Given the description of an element on the screen output the (x, y) to click on. 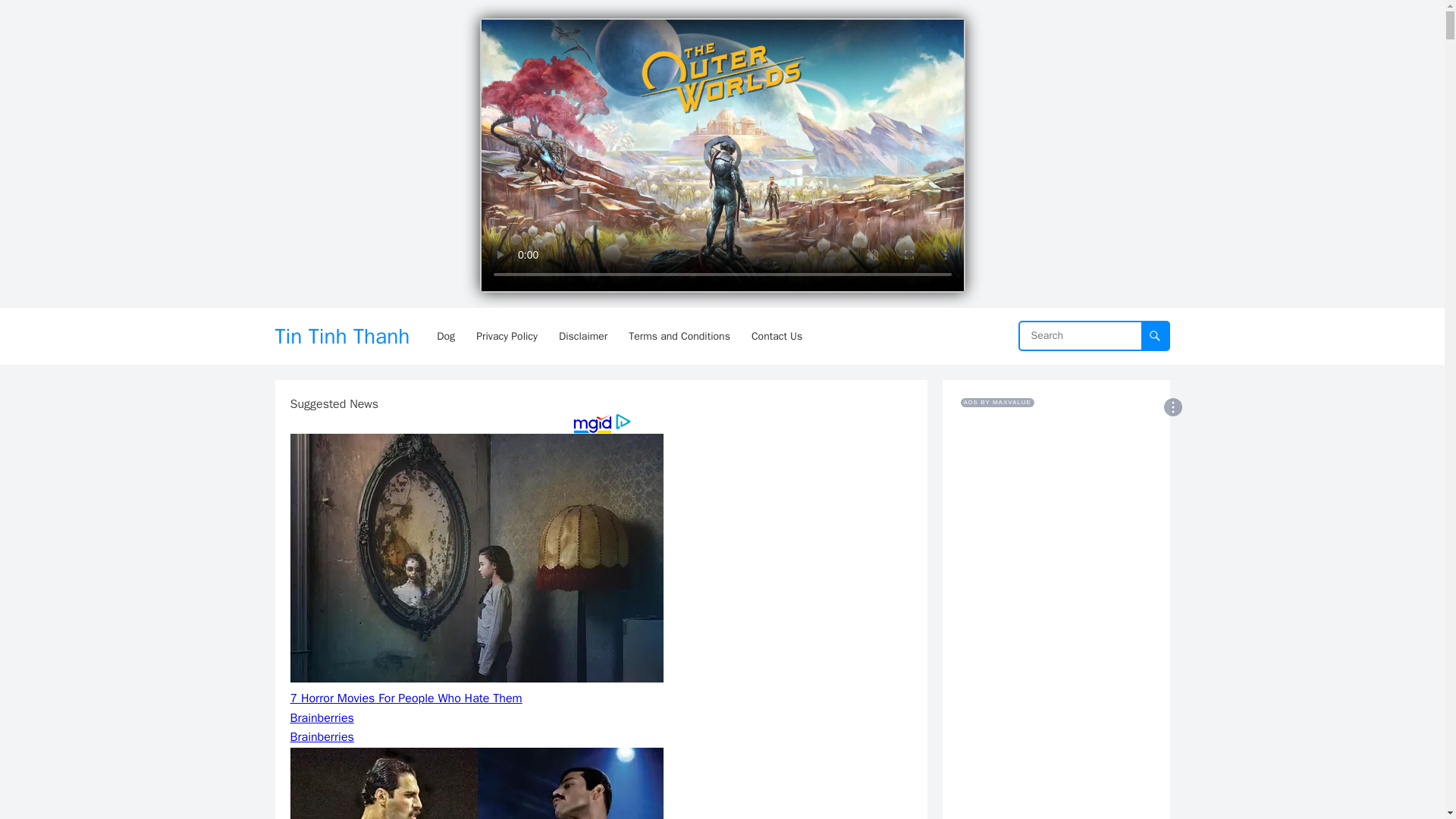
Terms and Conditions (679, 335)
Close (947, 30)
Tin Tinh Thanh (342, 335)
Contact Us (776, 335)
Dog (446, 335)
Disclaimer (582, 335)
Close (947, 30)
Privacy Policy (507, 335)
